Given the description of an element on the screen output the (x, y) to click on. 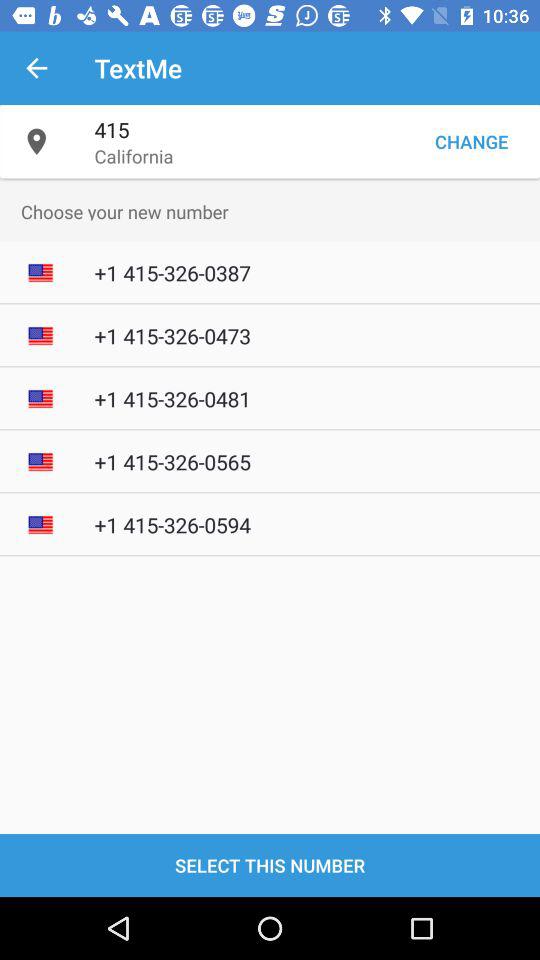
click the icon to the left of textme icon (36, 68)
